Given the description of an element on the screen output the (x, y) to click on. 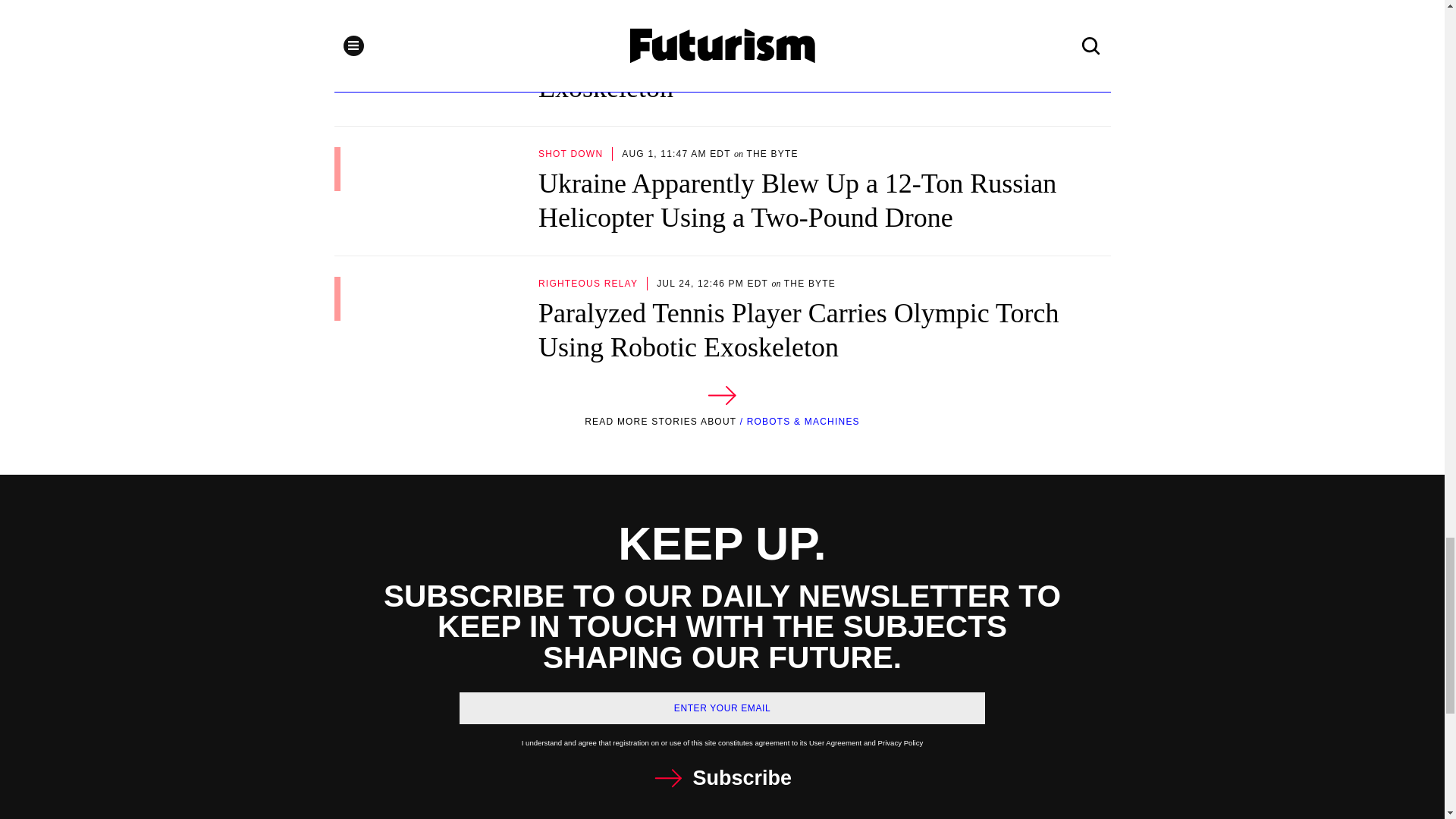
New Pair of Pants Has a Built-In Powered Exoskeleton (721, 61)
Subscribe (722, 777)
